Given the description of an element on the screen output the (x, y) to click on. 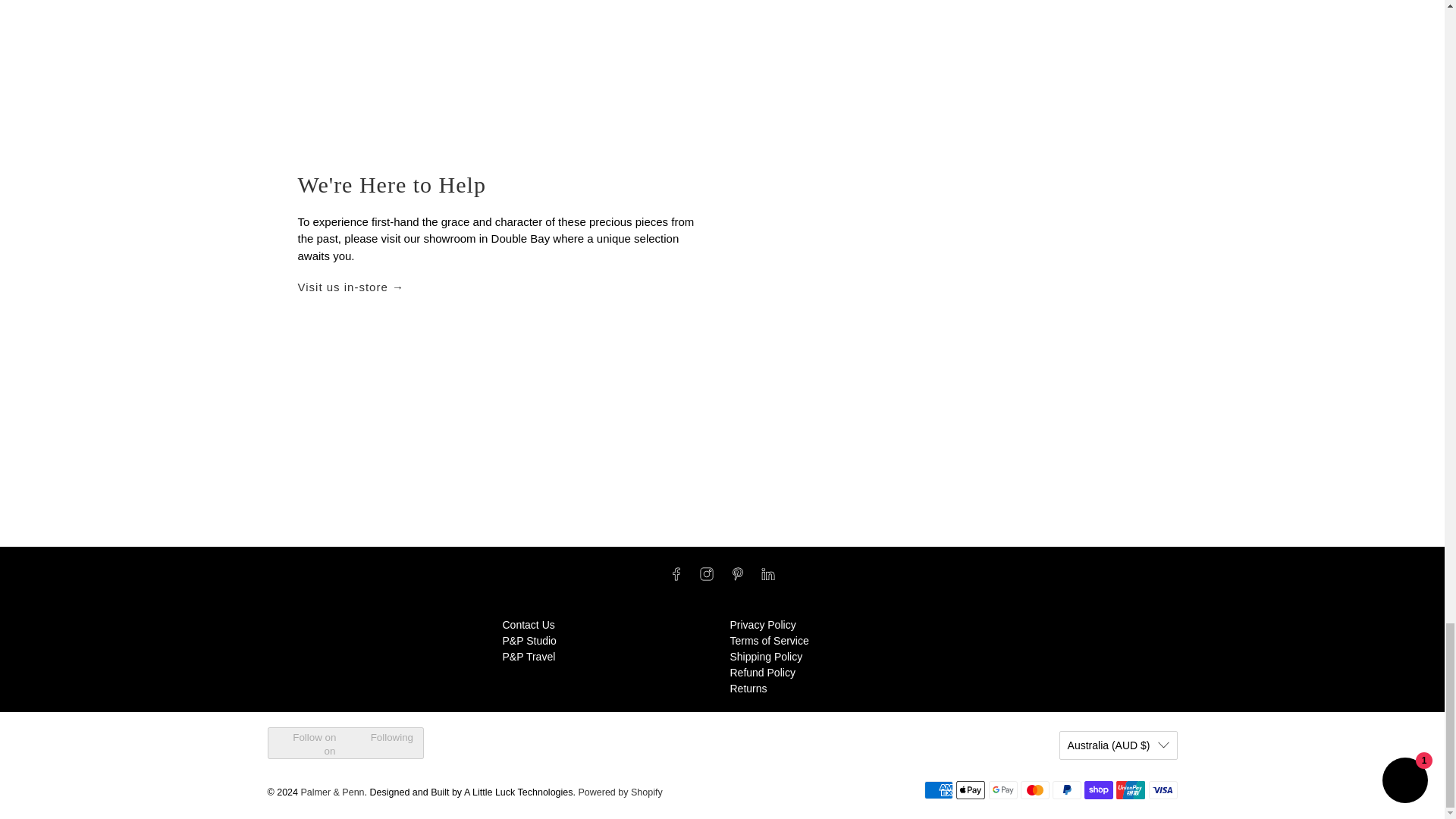
PayPal (1066, 790)
Google Pay (1002, 790)
Mastercard (1034, 790)
American Express (938, 790)
Apple Pay (970, 790)
Union Pay (1130, 790)
Visa (1162, 790)
Shop Pay (1098, 790)
